Given the description of an element on the screen output the (x, y) to click on. 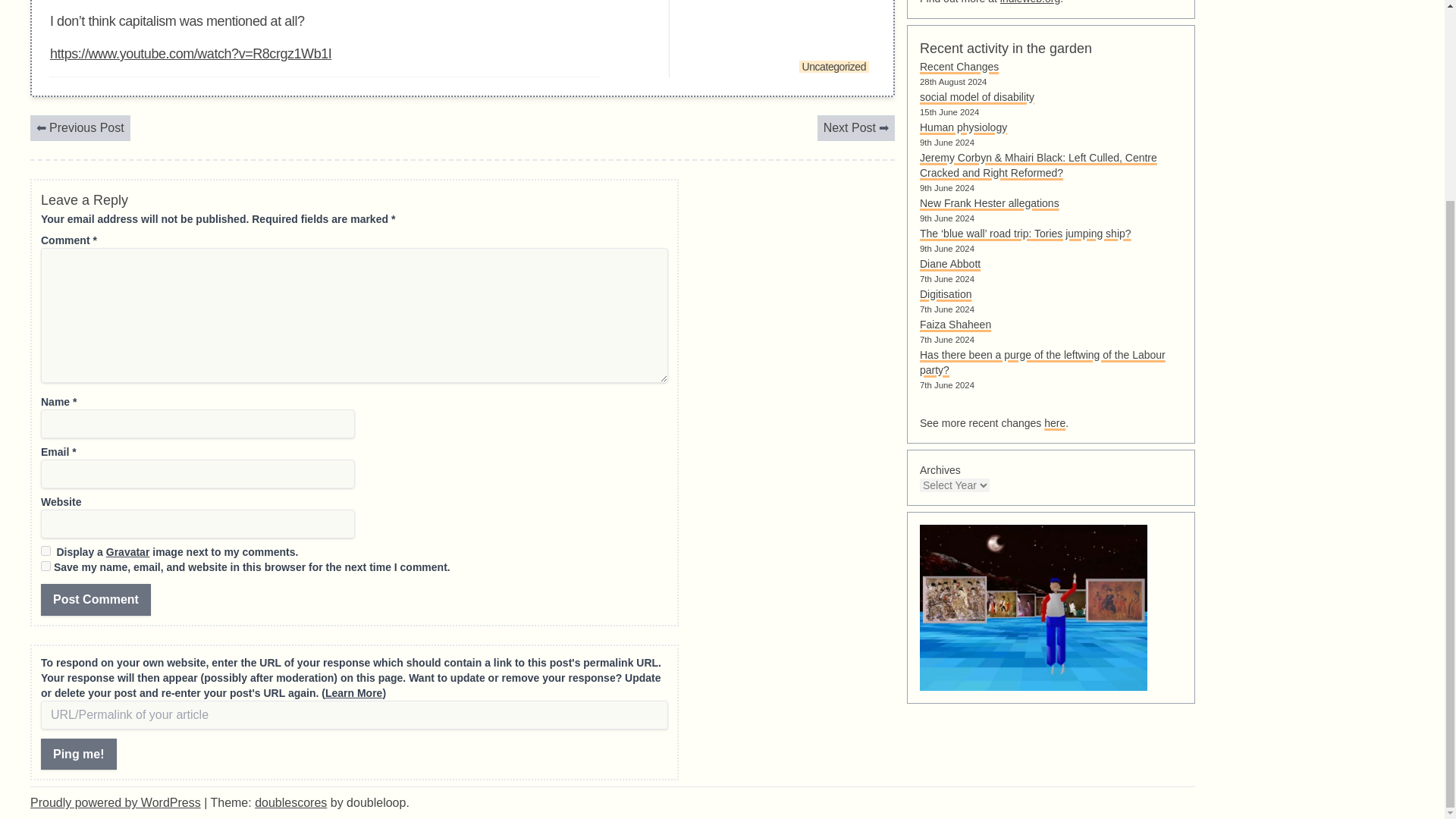
Has there been a purge of the leftwing of the Labour party? (1043, 361)
Post Comment (95, 599)
social model of disability (976, 96)
Digitisation (945, 294)
Learn More (352, 693)
Human physiology (963, 127)
true (45, 551)
Ping me! (78, 754)
Uncategorized (834, 66)
indieweb.org (1029, 2)
